Given the description of an element on the screen output the (x, y) to click on. 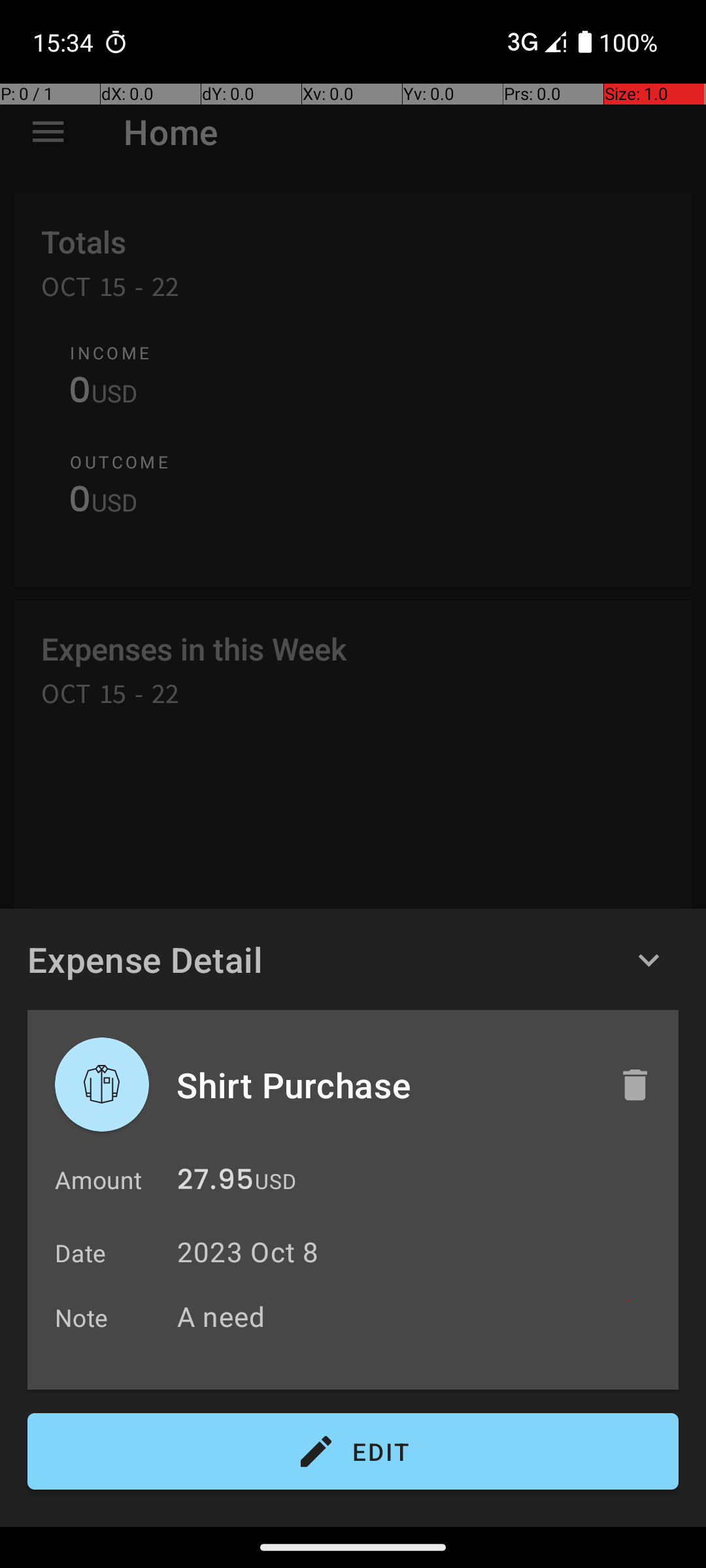
Shirt Purchase Element type: android.widget.TextView (383, 1084)
27.95 Element type: android.widget.TextView (215, 1182)
2023 Oct 8 Element type: android.widget.TextView (247, 1251)
A need Element type: android.widget.TextView (420, 1315)
